Given the description of an element on the screen output the (x, y) to click on. 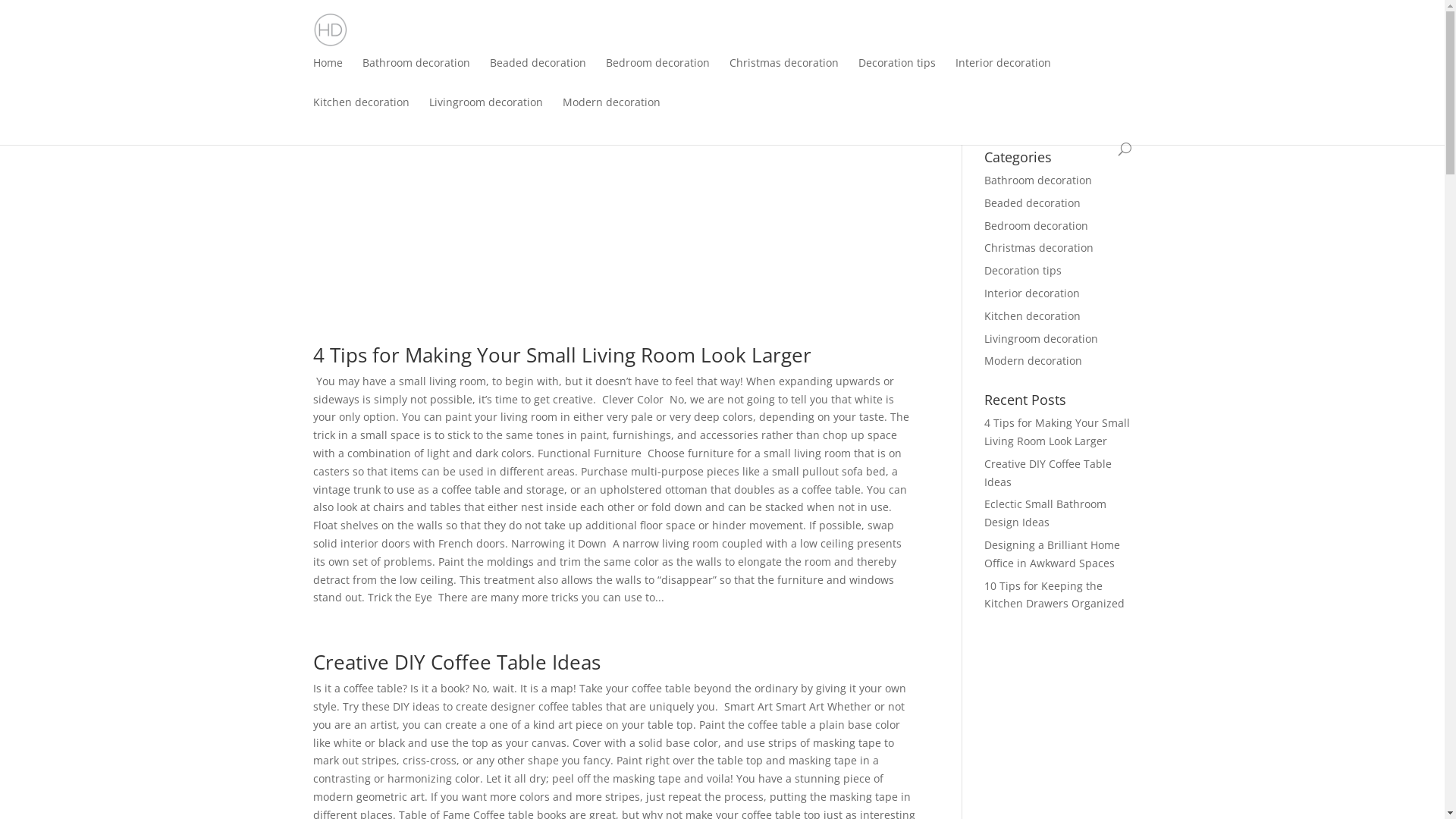
Decoration tips Element type: text (1022, 270)
Kitchen decoration Element type: text (360, 112)
Livingroom decoration Element type: text (1041, 338)
Creative DIY Coffee Table Ideas Element type: text (455, 661)
Decoration tips Element type: text (896, 73)
Creative DIY Coffee Table Ideas Element type: text (1047, 472)
Modern decoration Element type: text (611, 112)
10 Tips for Keeping the Kitchen Drawers Organized Element type: text (1054, 594)
Designing a Brilliant Home Office in Awkward Spaces Element type: text (1052, 553)
Home Element type: text (327, 73)
Advertisement Element type: hover (613, 210)
Christmas decoration Element type: text (1038, 247)
4 Tips for Making Your Small Living Room Look Larger Element type: text (1056, 431)
Interior decoration Element type: text (1031, 292)
4 Tips for Making Your Small Living Room Look Larger Element type: text (561, 354)
Beaded decoration Element type: text (537, 73)
Modern decoration Element type: text (1033, 360)
Bedroom decoration Element type: text (657, 73)
Christmas decoration Element type: text (783, 73)
Bedroom decoration Element type: text (1036, 225)
Bathroom decoration Element type: text (416, 73)
Kitchen decoration Element type: text (1032, 315)
Search Element type: text (1103, 116)
Livingroom decoration Element type: text (485, 112)
Interior decoration Element type: text (1003, 73)
Eclectic Small Bathroom Design Ideas Element type: text (1045, 512)
Beaded decoration Element type: text (1032, 202)
Bathroom decoration Element type: text (1038, 179)
